Given the description of an element on the screen output the (x, y) to click on. 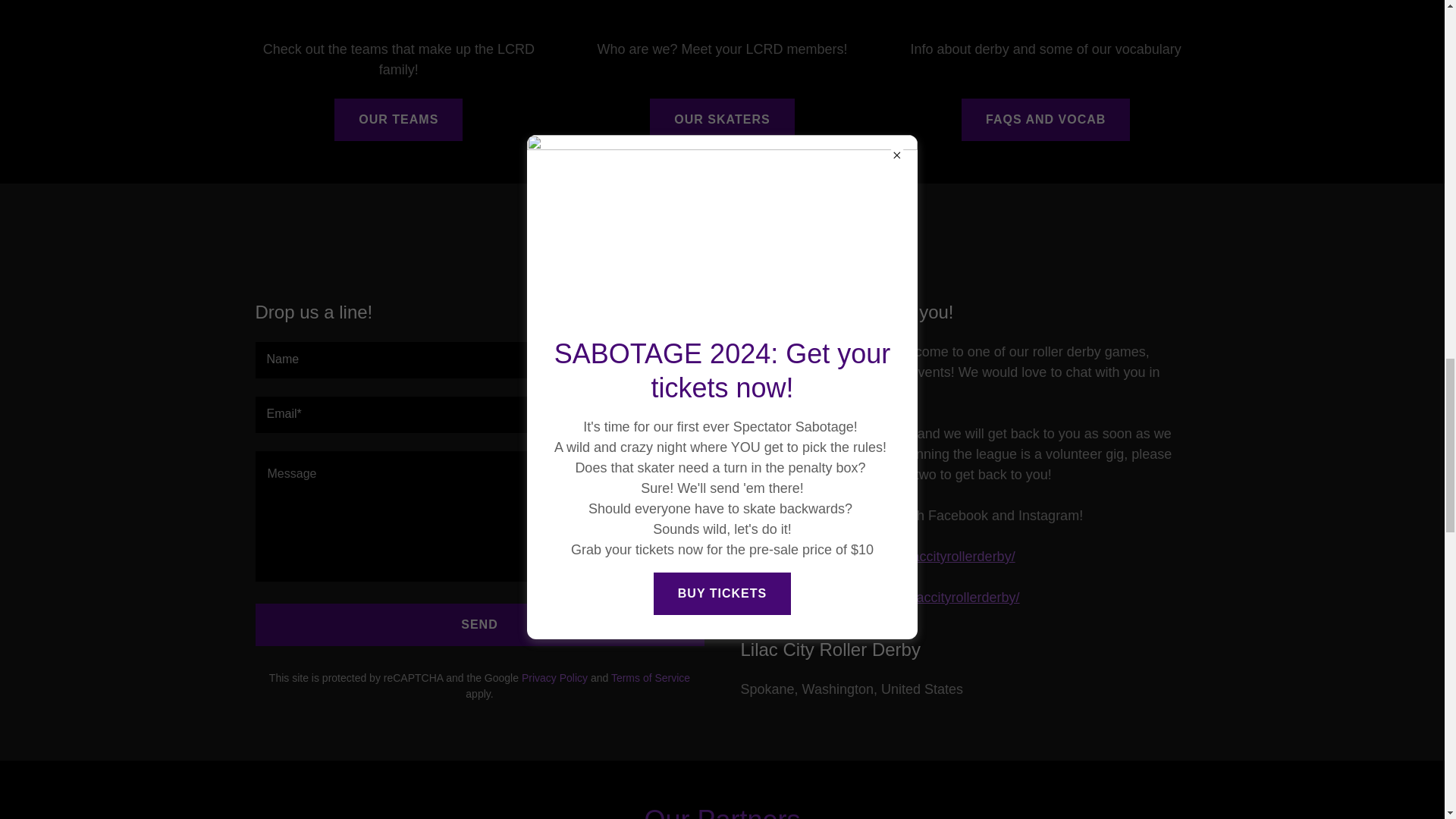
FAQS AND VOCAB (1044, 119)
Terms of Service (650, 677)
OUR TEAMS (398, 119)
OUR SKATERS (721, 119)
Privacy Policy (554, 677)
SEND (478, 624)
